Given the description of an element on the screen output the (x, y) to click on. 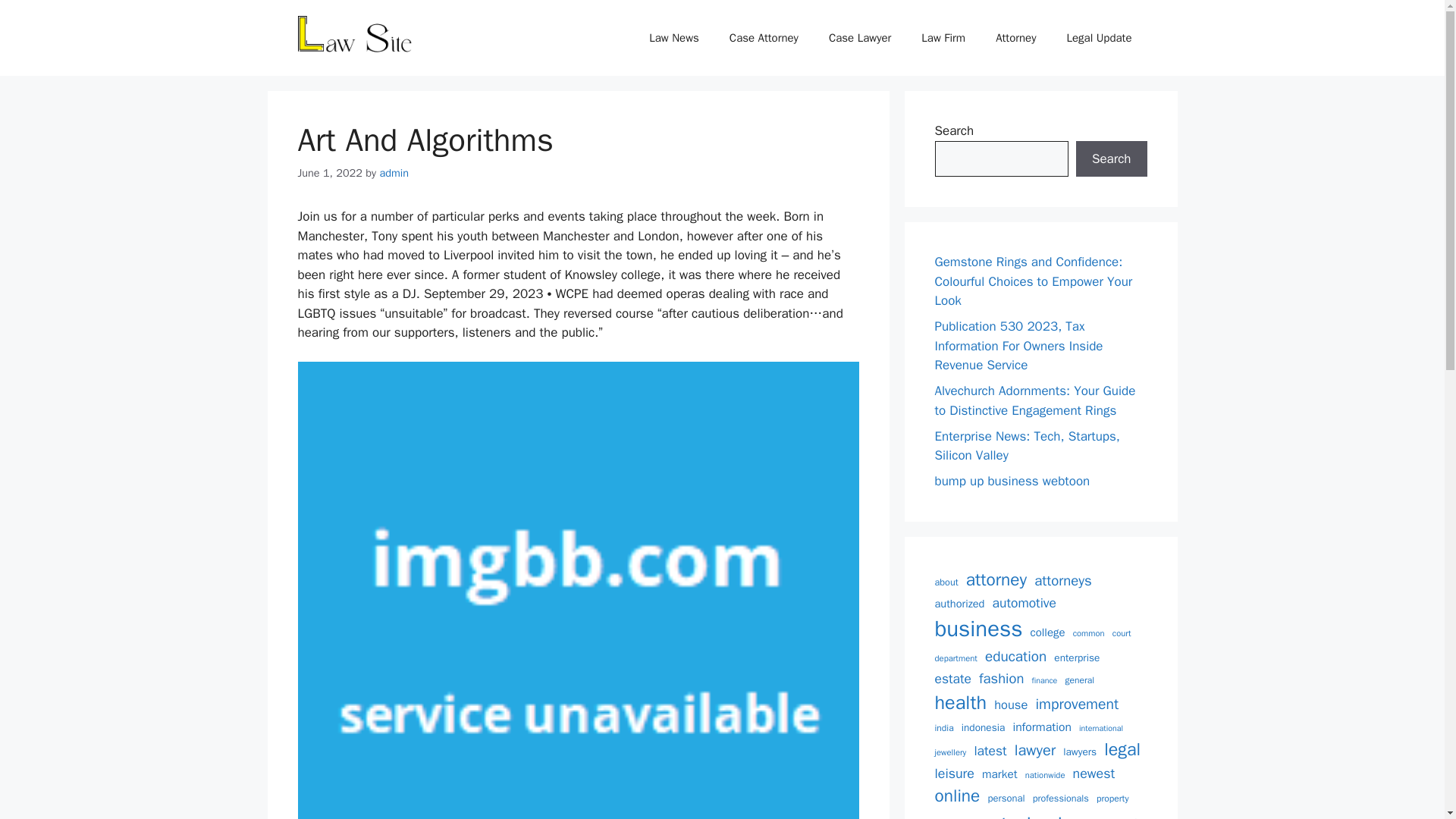
common (1089, 633)
Legal Update (1099, 37)
automotive (1024, 602)
general (1079, 680)
attorneys (1062, 580)
about (946, 581)
bump up business webtoon (1011, 480)
fashion (1000, 678)
business (978, 629)
department (955, 658)
admin (393, 172)
attorney (996, 579)
Search (1111, 158)
Law Firm (942, 37)
